Given the description of an element on the screen output the (x, y) to click on. 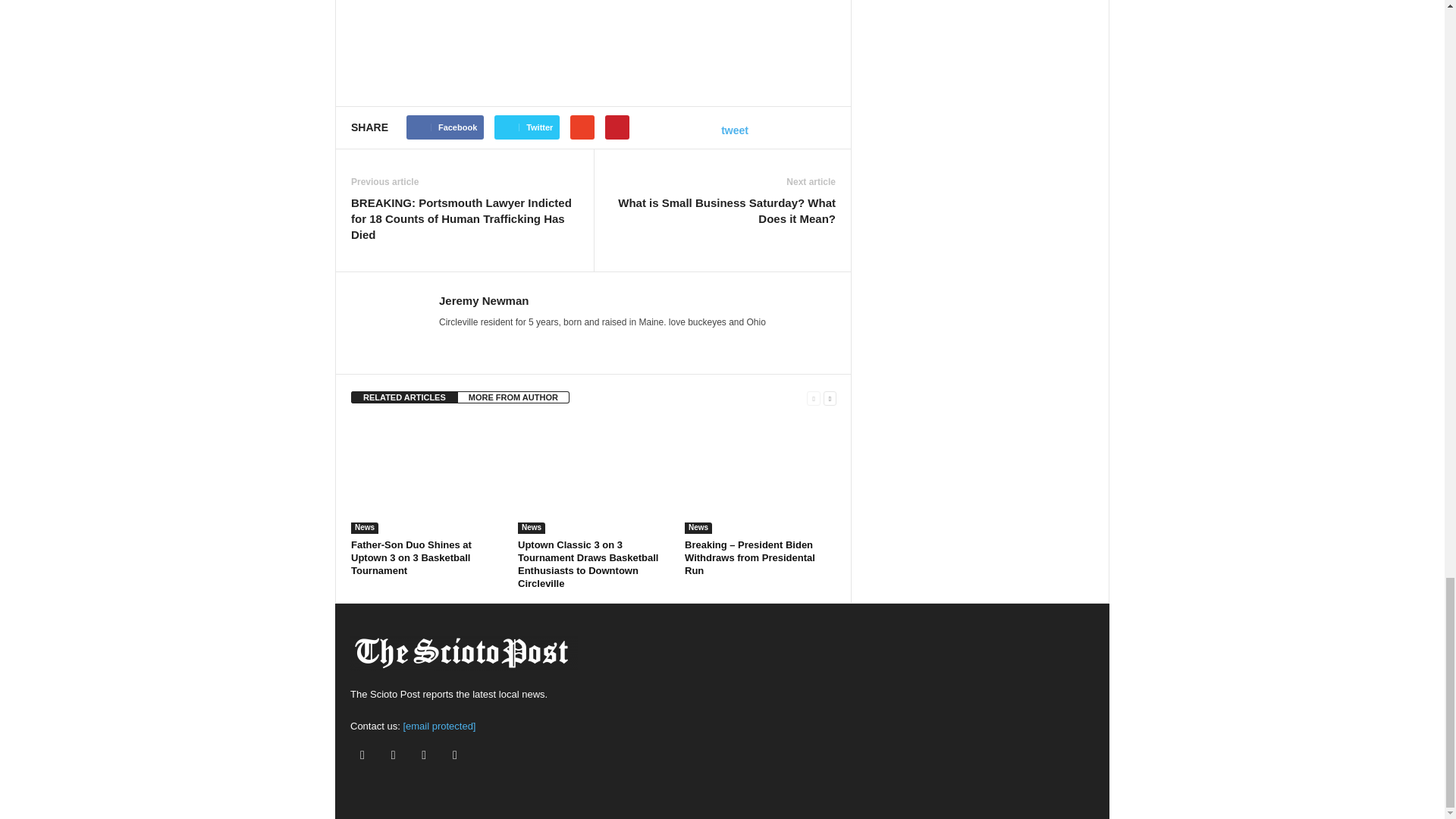
Father-Son Duo Shines at Uptown 3 on 3 Basketball Tournament (410, 557)
Father-Son Duo Shines at Uptown 3 on 3 Basketball Tournament (426, 476)
